Given the description of an element on the screen output the (x, y) to click on. 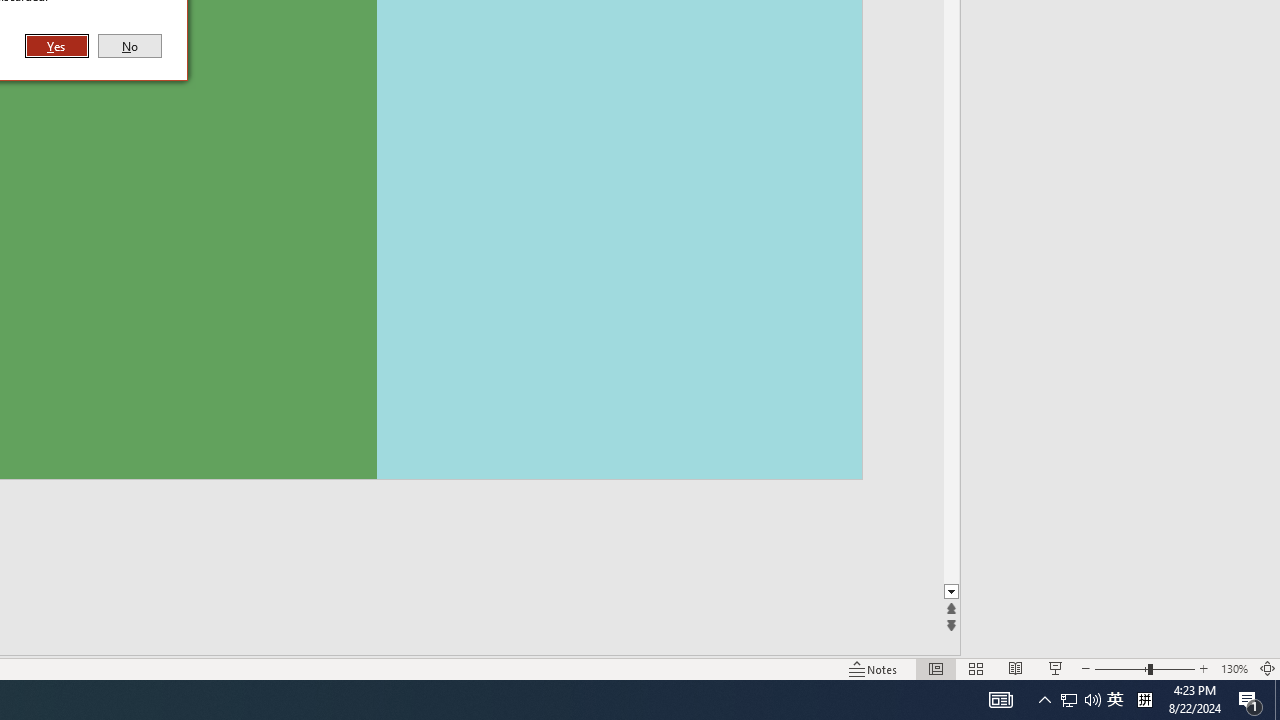
Zoom 130% (1234, 668)
